Given the description of an element on the screen output the (x, y) to click on. 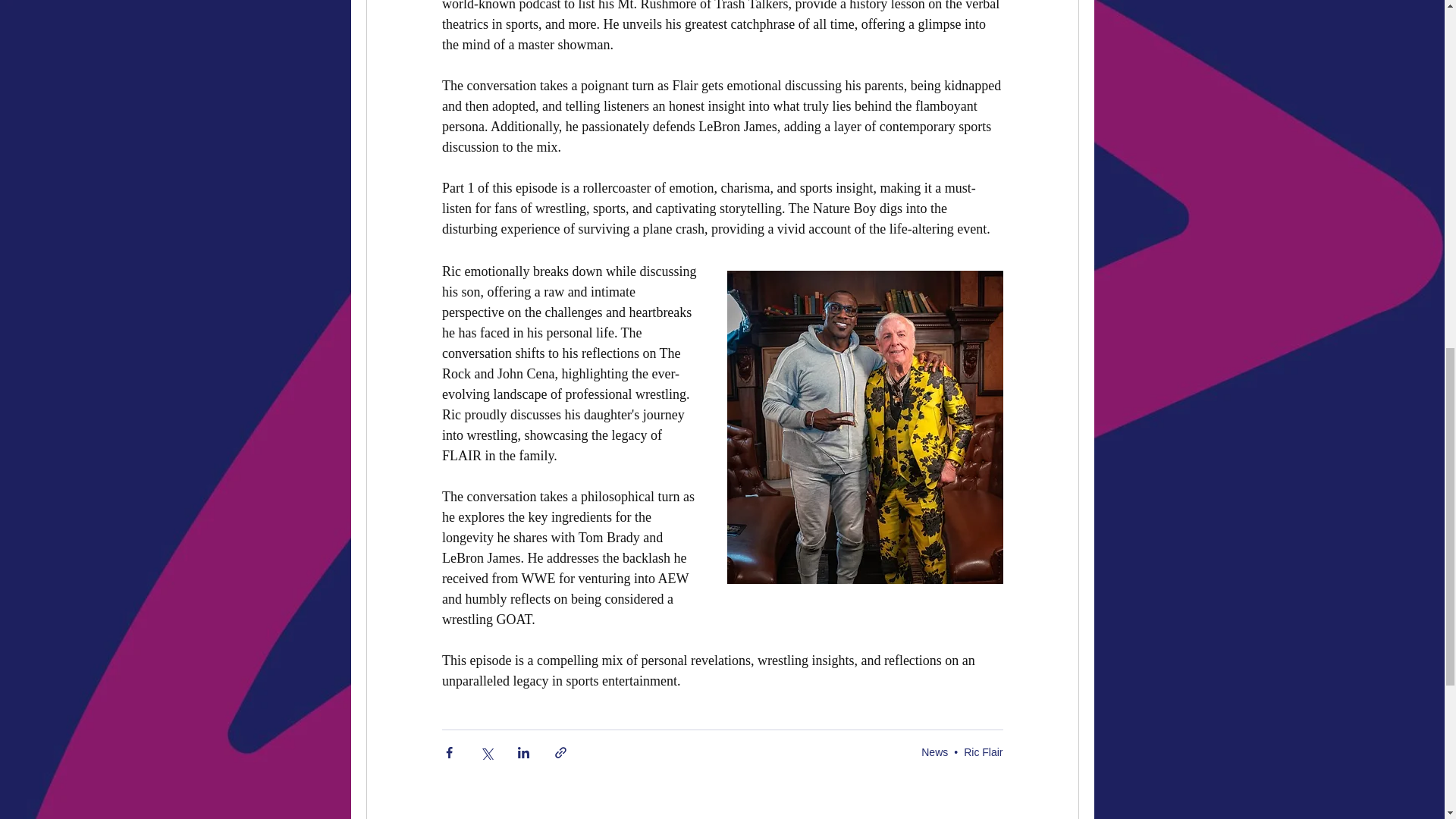
News (934, 752)
Ric Flair (983, 752)
